Given the description of an element on the screen output the (x, y) to click on. 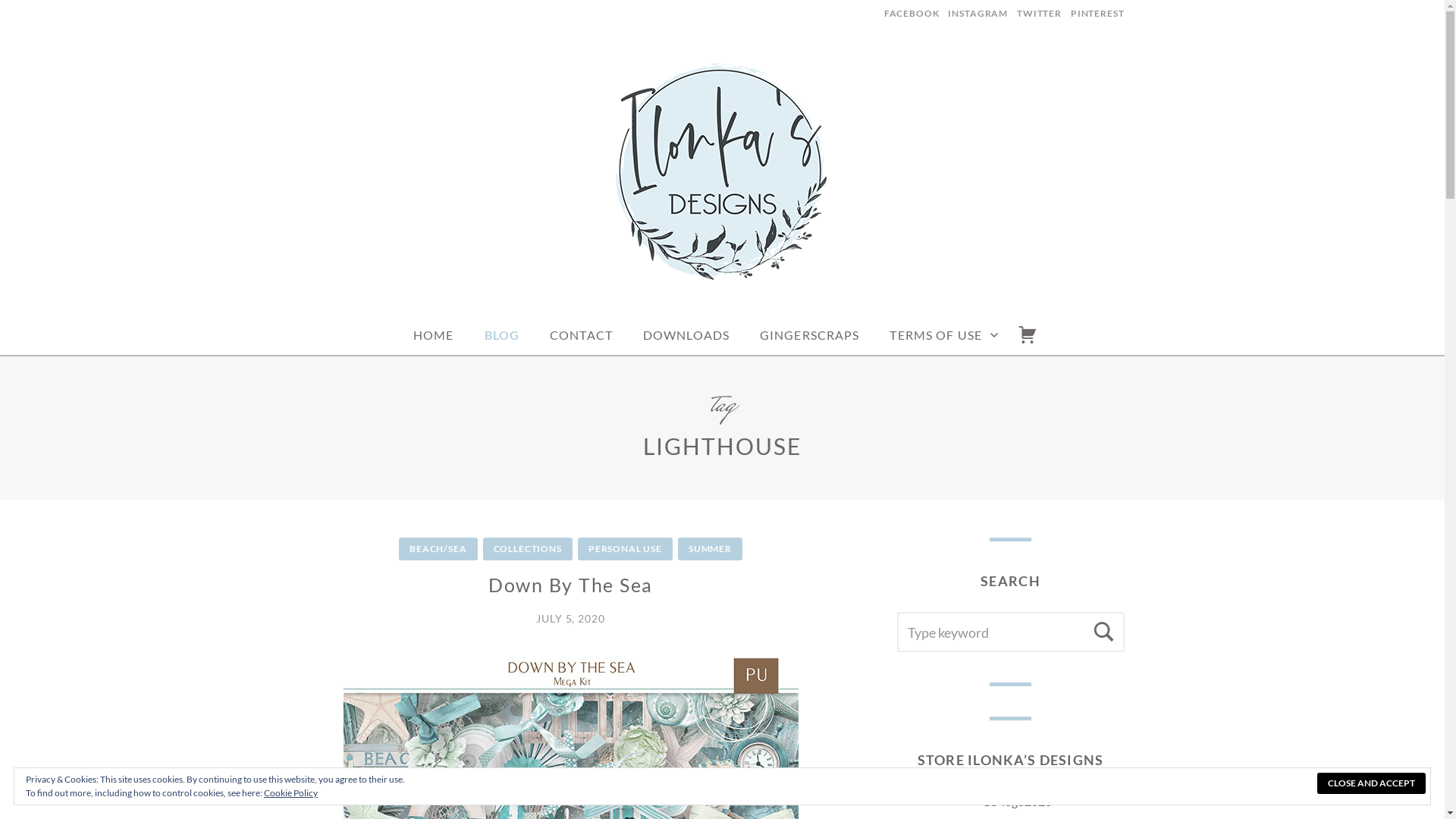
Press Enter to submit your search (1010, 631)
Down By The Sea (569, 584)
PERSONAL USE (625, 548)
GINGERSCRAPS (809, 334)
FACEBOOK (913, 13)
INSTAGRAM (977, 13)
BLOG (501, 334)
PINTEREST (1094, 13)
Close and accept (1371, 783)
DOWNLOADS (685, 334)
